Given the description of an element on the screen output the (x, y) to click on. 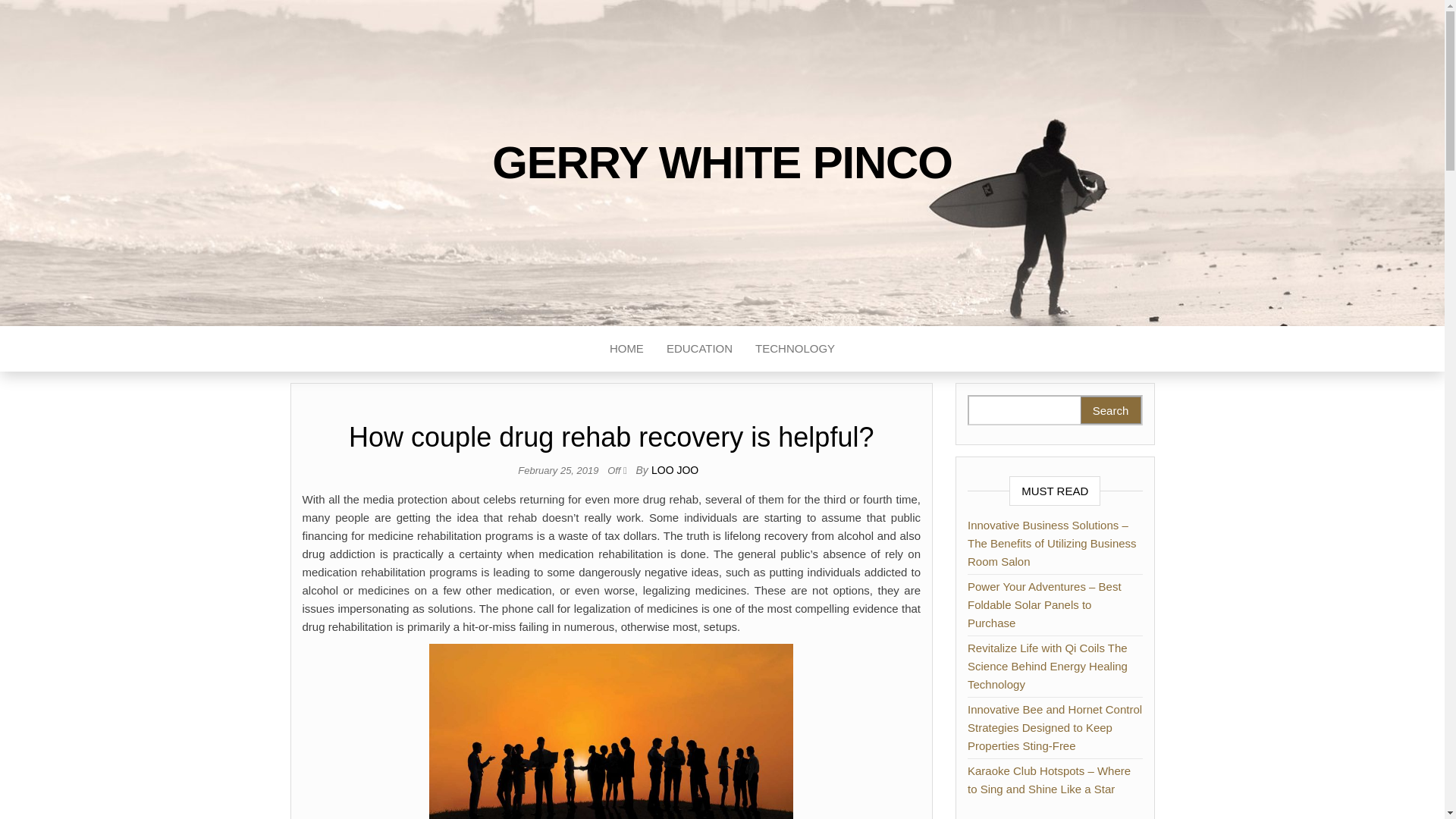
HOME (626, 348)
Home (626, 348)
TECHNOLOGY (794, 348)
EDUCATION (699, 348)
Education (699, 348)
Search (1110, 410)
Search (1110, 410)
LOO JOO (674, 469)
Technology (794, 348)
GERRY WHITE PINCO (722, 162)
